Given the description of an element on the screen output the (x, y) to click on. 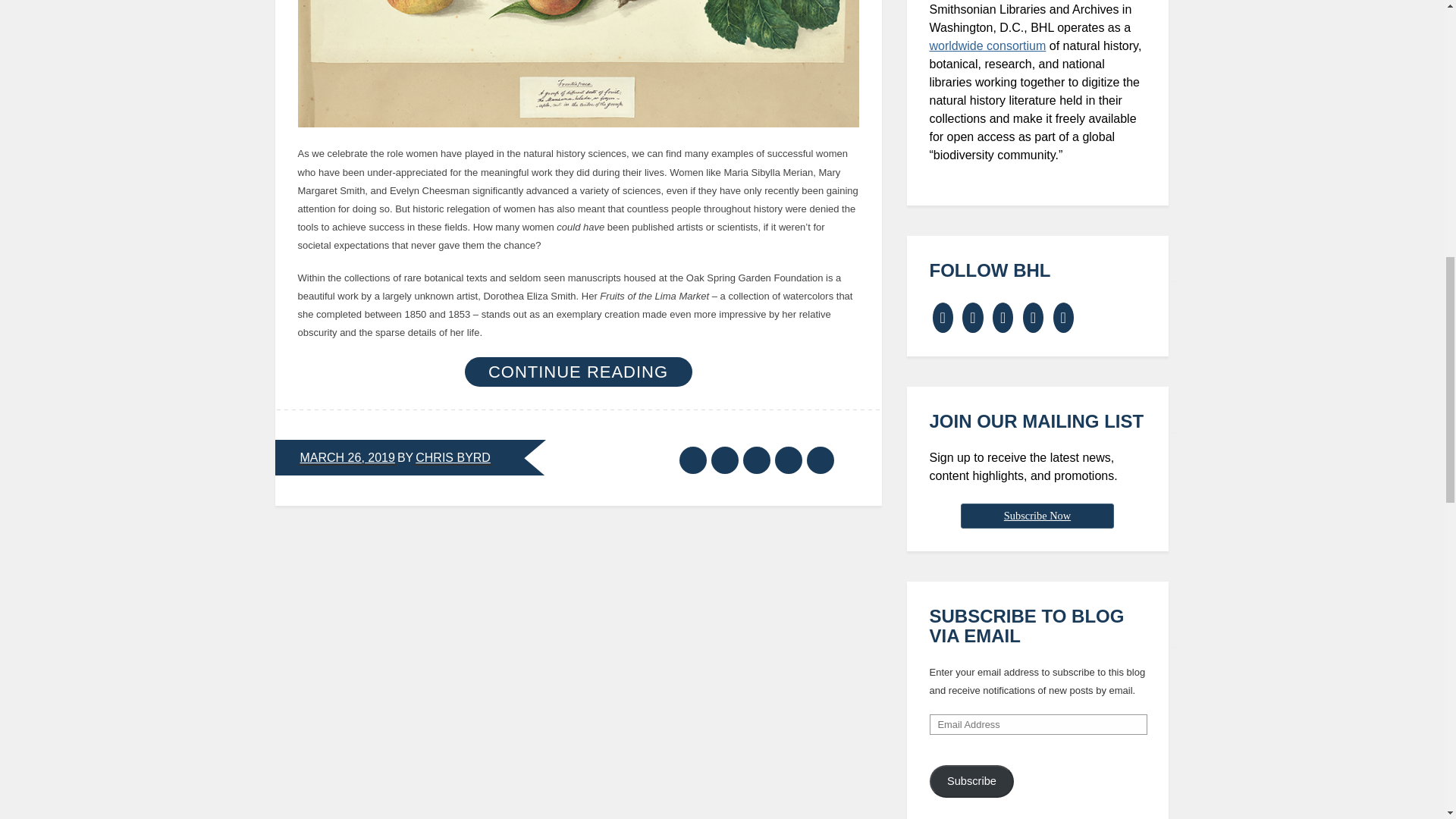
Posts by Chris Byrd (453, 457)
